Given the description of an element on the screen output the (x, y) to click on. 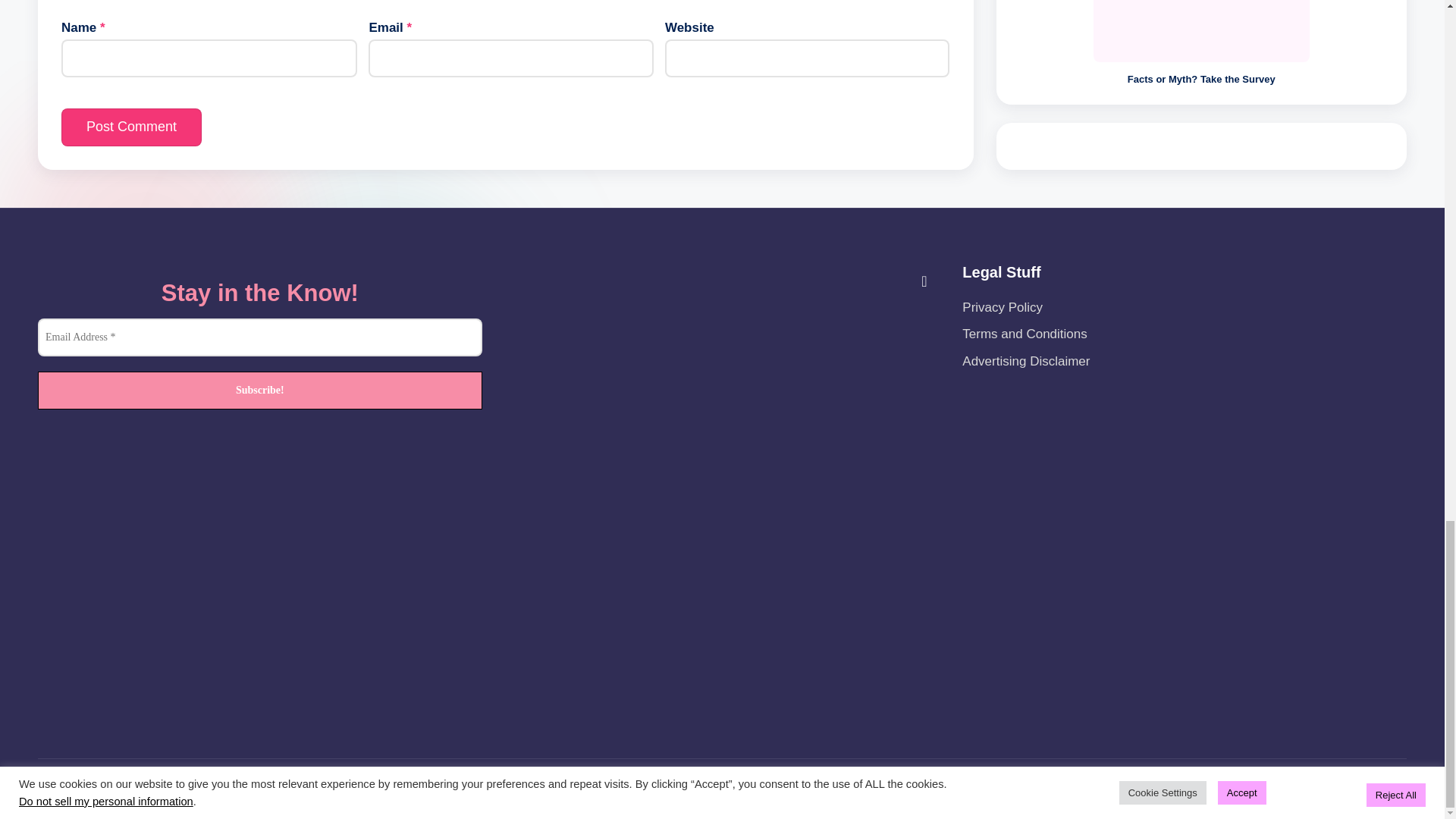
Email Address (259, 337)
Subscribe! (259, 390)
Post Comment (131, 127)
